Given the description of an element on the screen output the (x, y) to click on. 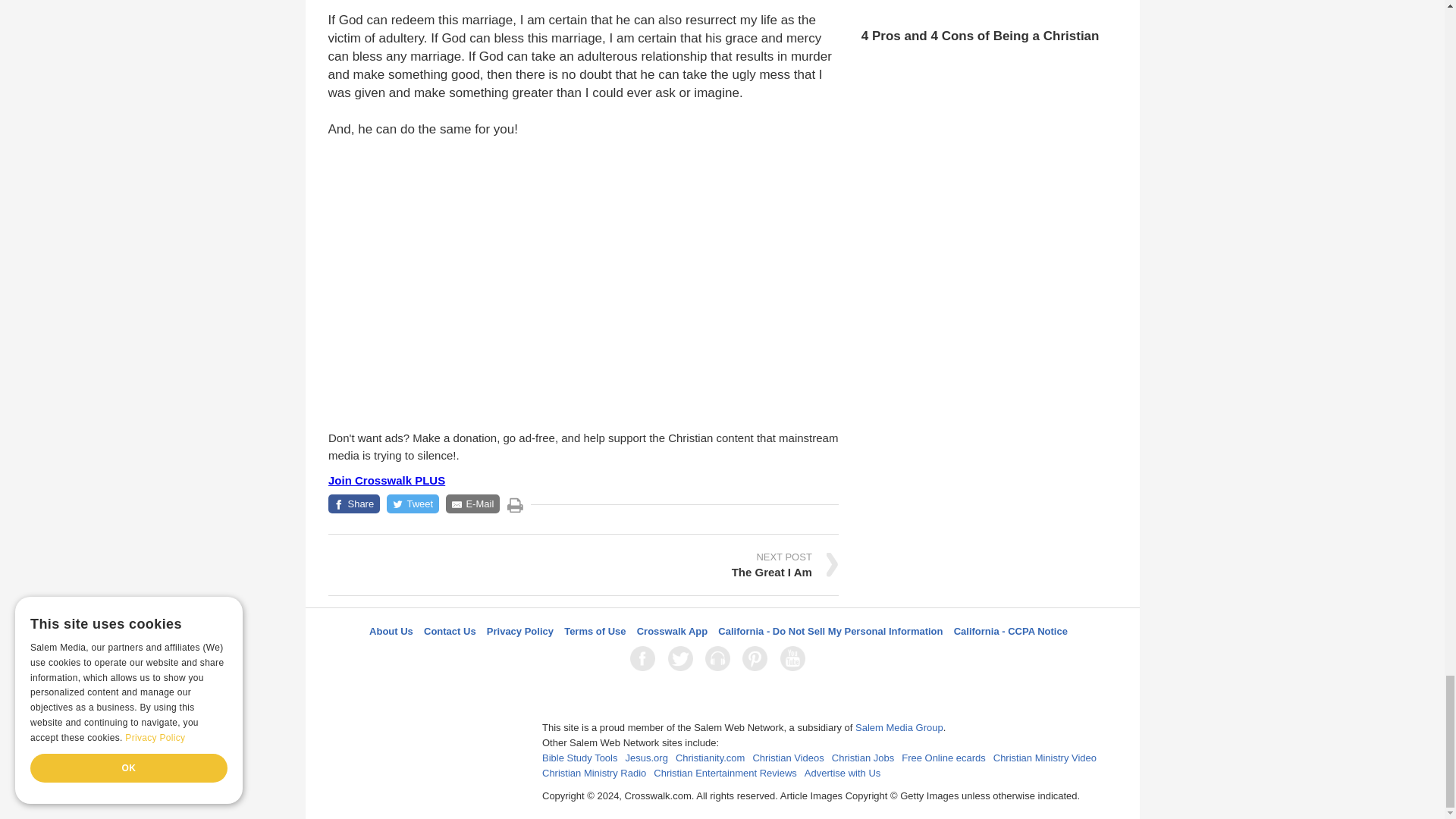
LifeAudio (719, 658)
Twitter (683, 658)
Pinterest (757, 658)
Facebook (645, 658)
